Given the description of an element on the screen output the (x, y) to click on. 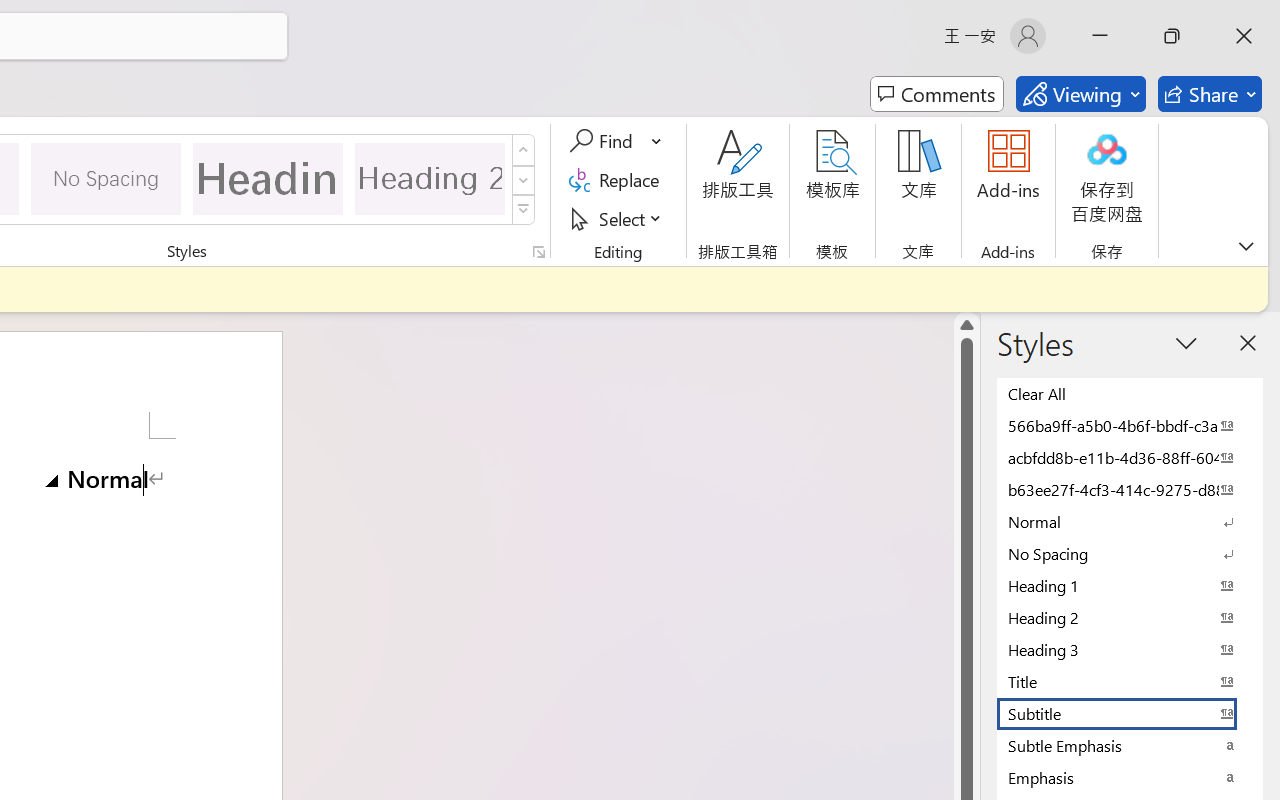
Row up (523, 150)
acbfdd8b-e11b-4d36-88ff-6049b138f862 (1130, 457)
Heading 1 (267, 178)
Mode (1080, 94)
b63ee27f-4cf3-414c-9275-d88e3f90795e (1130, 489)
Select (618, 218)
